Given the description of an element on the screen output the (x, y) to click on. 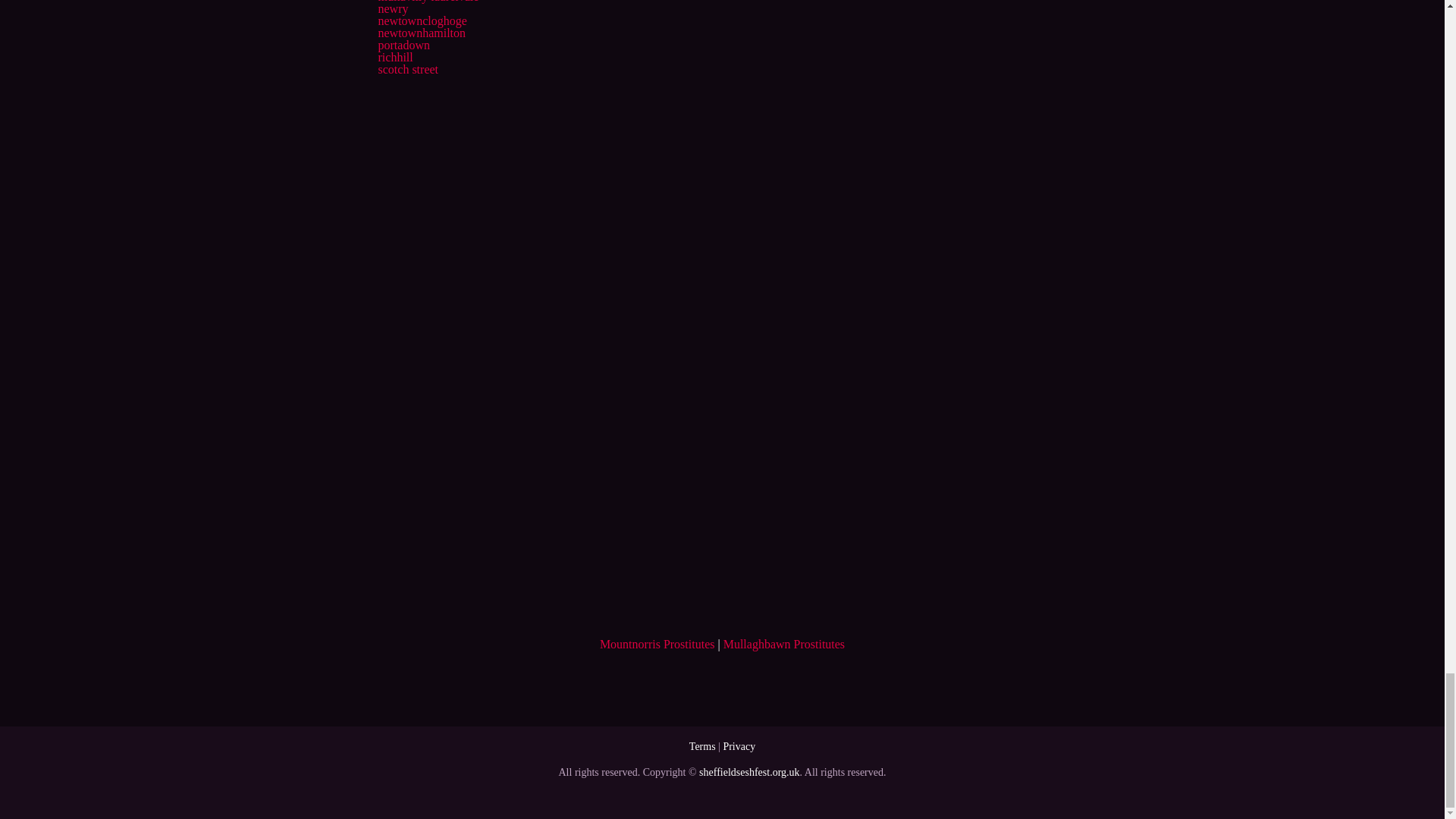
scotch street (407, 69)
Privacy (738, 746)
Terms (702, 746)
mullavilly laurelvale (428, 1)
Privacy (738, 746)
newry (392, 8)
Mountnorris Prostitutes (656, 644)
sheffieldseshfest.org.uk (748, 772)
newtowncloghoge (421, 20)
newtownhamilton (421, 32)
